Given the description of an element on the screen output the (x, y) to click on. 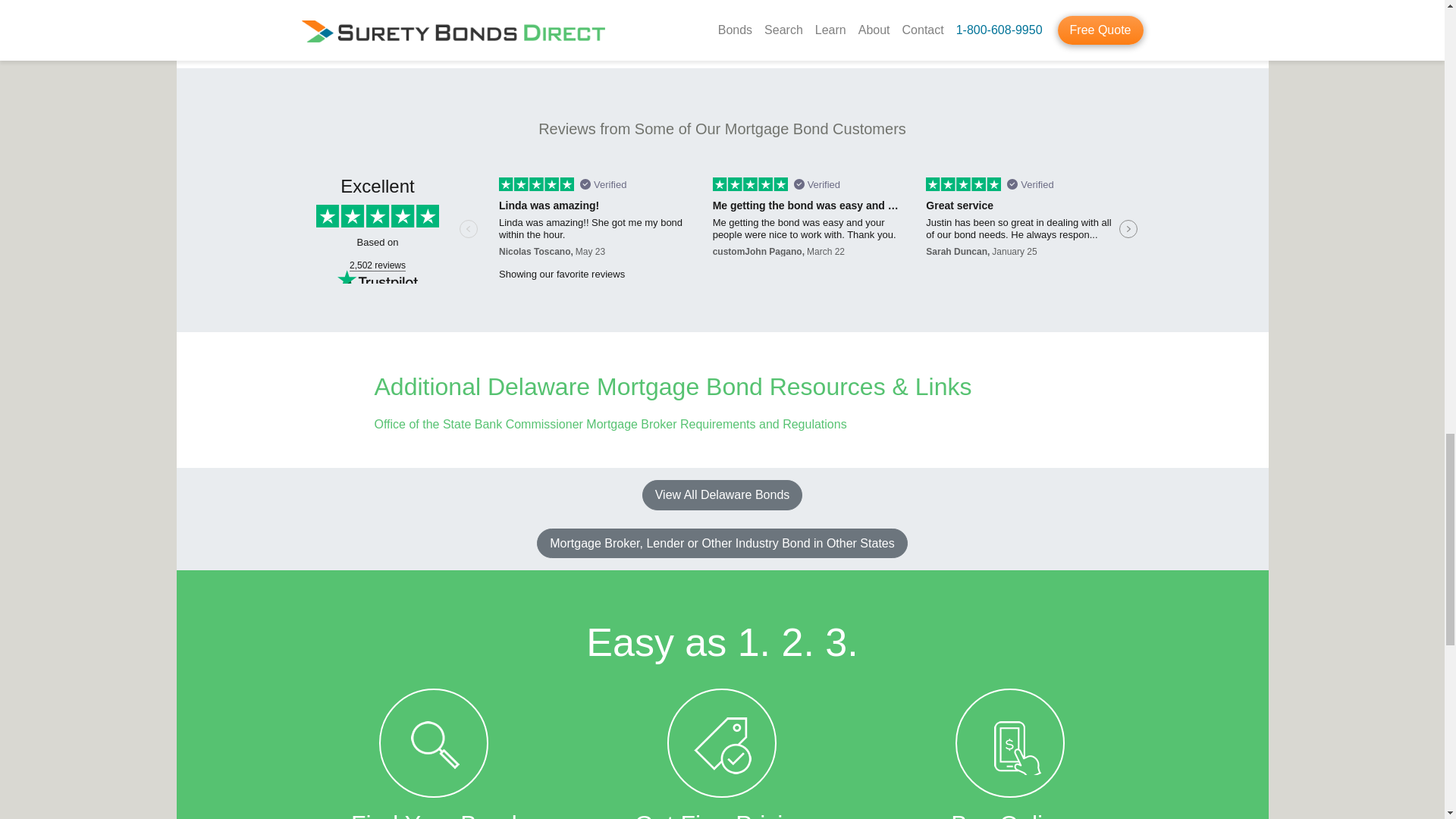
Customer reviews powered by Trustpilot (721, 230)
